Given the description of an element on the screen output the (x, y) to click on. 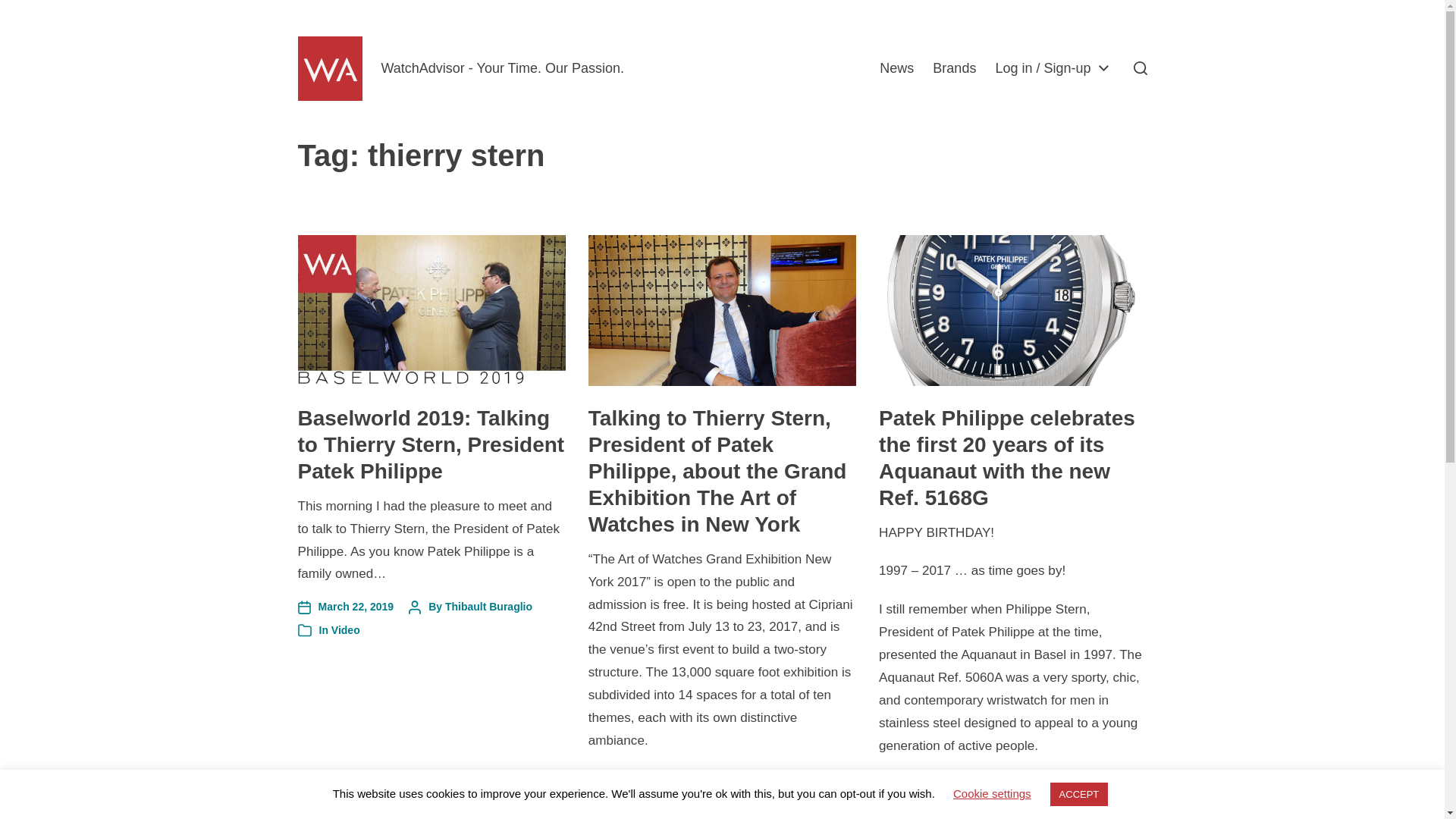
Brands (954, 68)
Thibault Buraglio (488, 606)
News (896, 68)
Video (345, 630)
March 22, 2019 (345, 606)
